Given the description of an element on the screen output the (x, y) to click on. 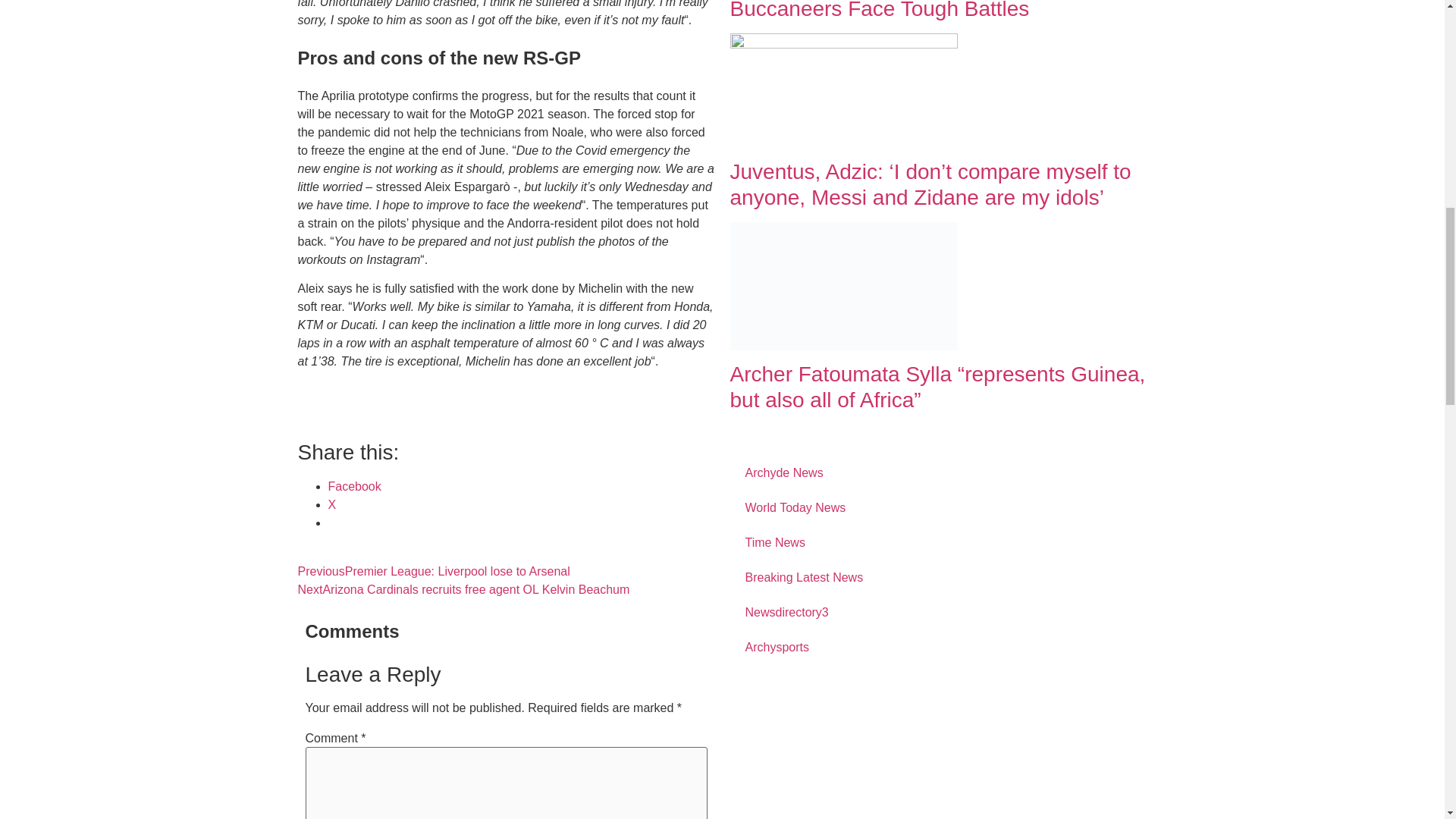
Click to share on X (331, 504)
Click to share on Facebook (353, 486)
